Given the description of an element on the screen output the (x, y) to click on. 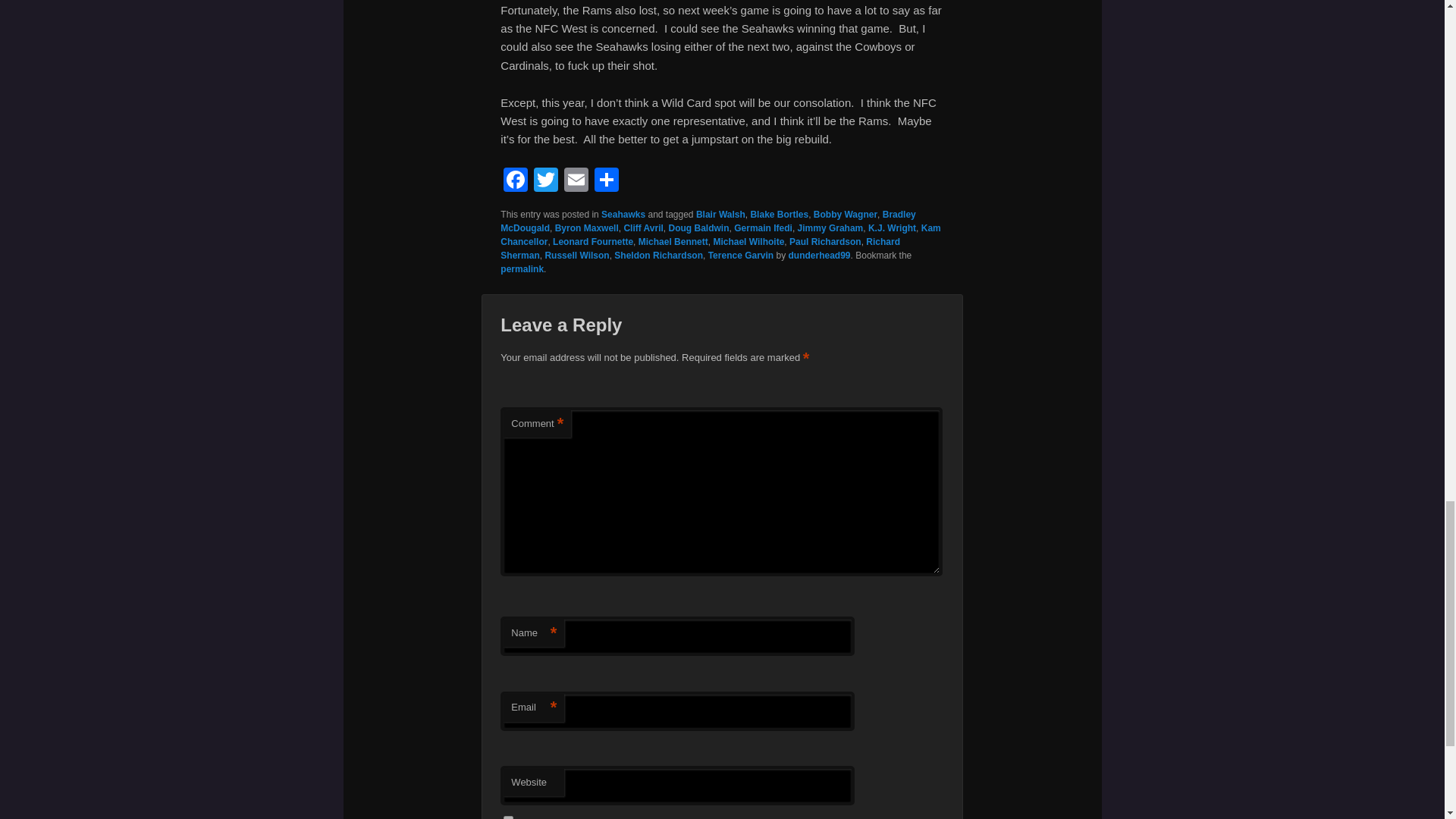
Permalink to The Seahawks Are Never Not Gonna Be Injured (521, 268)
Email (575, 181)
Facebook (515, 181)
Twitter (545, 181)
subscribe (508, 817)
